Given the description of an element on the screen output the (x, y) to click on. 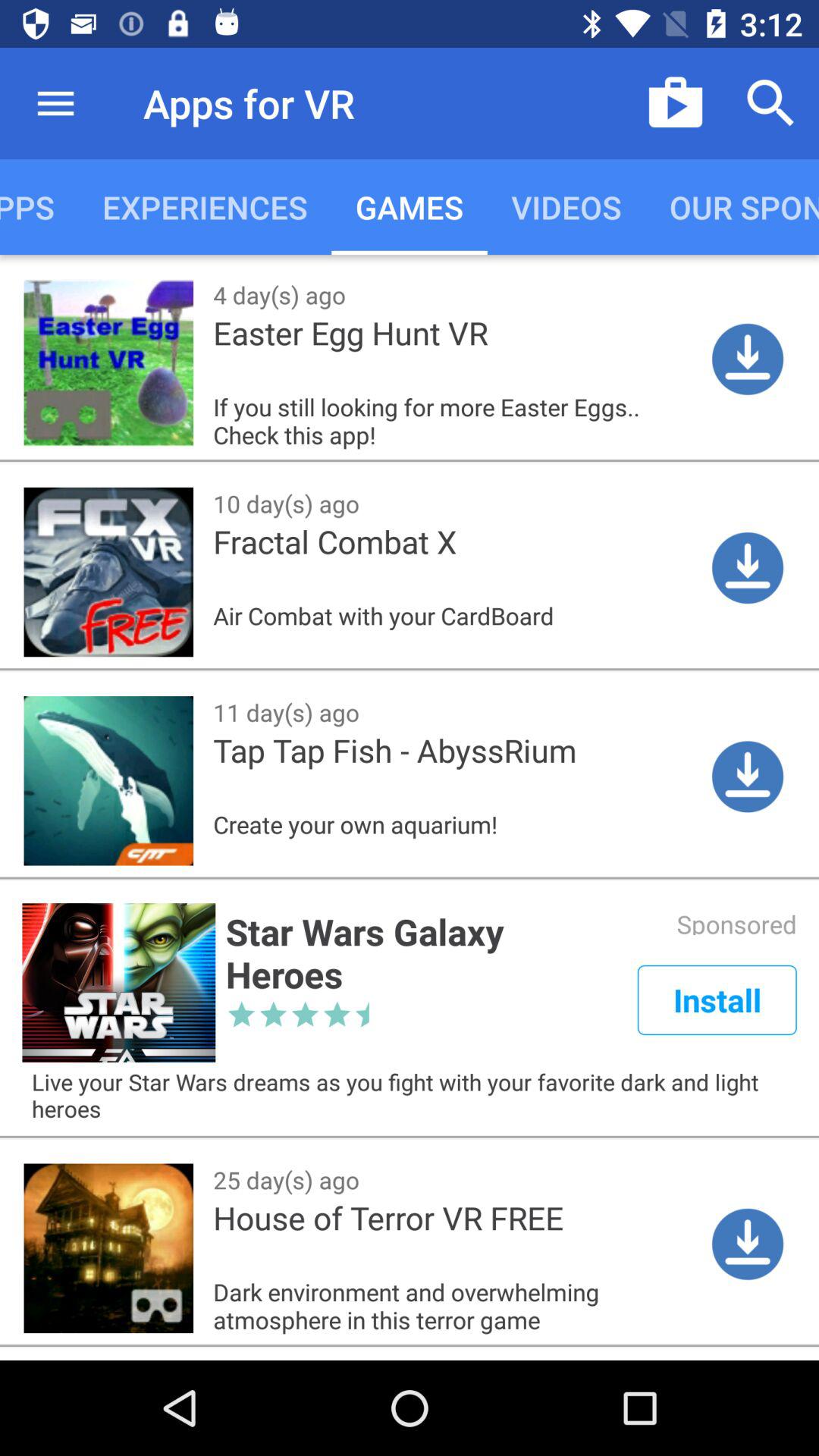
jump to the install (716, 1000)
